Given the description of an element on the screen output the (x, y) to click on. 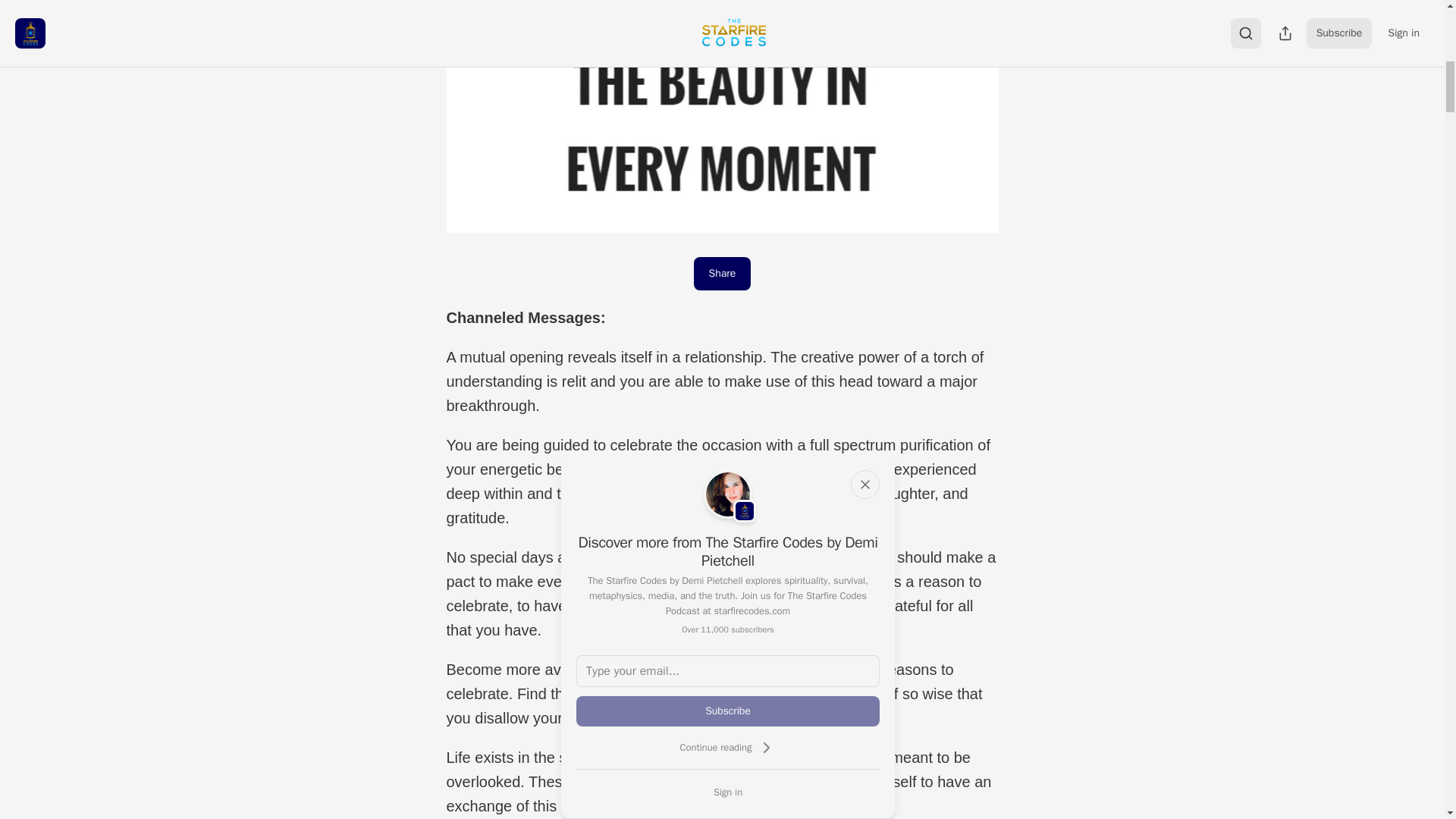
Sign in (727, 791)
Subscribe (727, 711)
Share (722, 273)
